Given the description of an element on the screen output the (x, y) to click on. 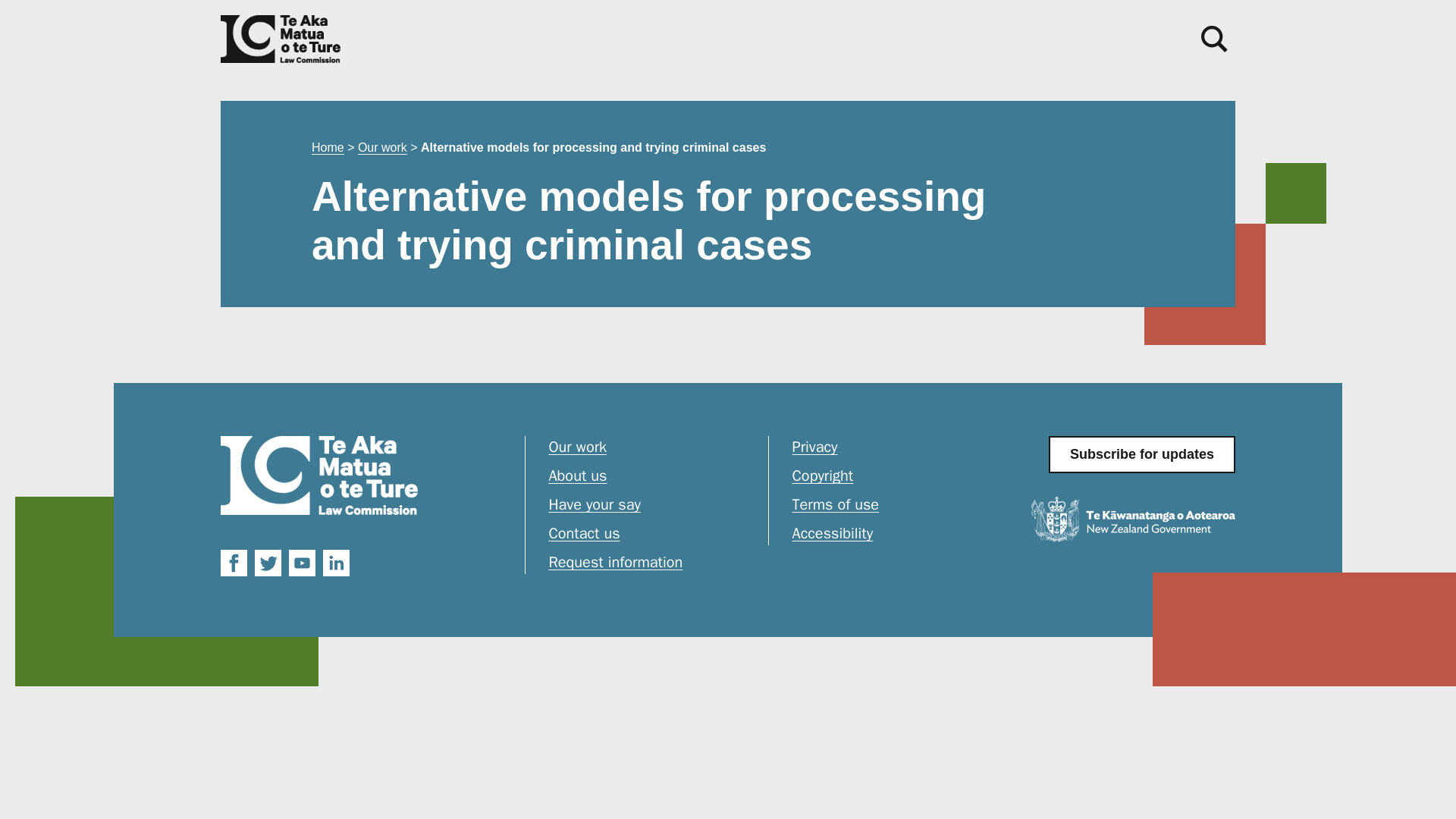
Go to the 'Have your say' page (648, 507)
Go to the 'Request information' page (648, 562)
Go to the 'Terms of use' page (891, 507)
Go to our Youtube page (301, 562)
Go to the 'Contact us' page (648, 536)
Go to the 'Our work' page (648, 450)
Have your say (648, 507)
Accessibility (891, 533)
Go to homepage (319, 475)
Go to the 'Copyright' page (891, 479)
